Given the description of an element on the screen output the (x, y) to click on. 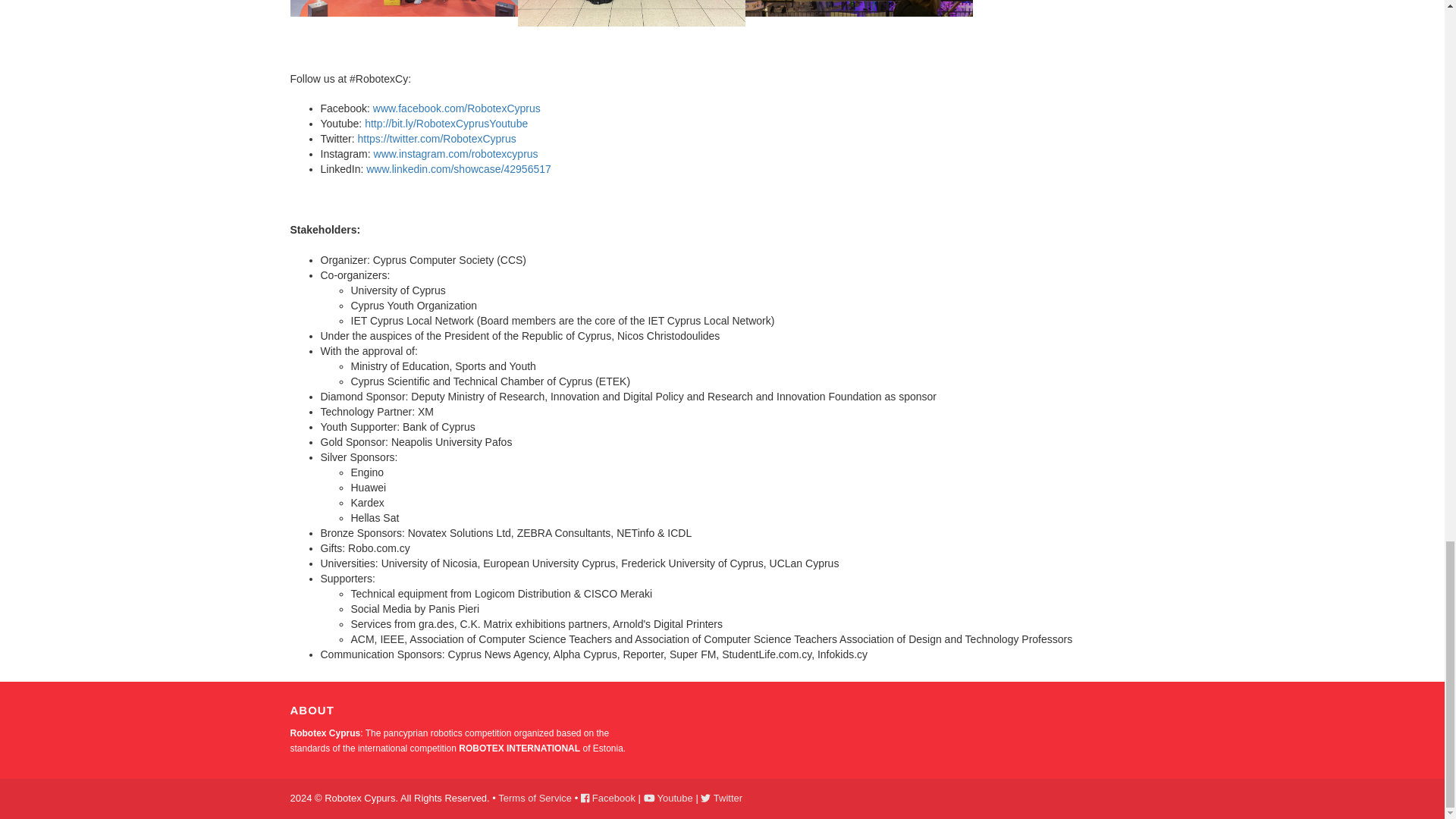
ROBOTEX INTERNATIONAL (520, 747)
Twitter (721, 797)
Youtube (668, 797)
Facebook (607, 797)
Terms of Service (534, 797)
